Given the description of an element on the screen output the (x, y) to click on. 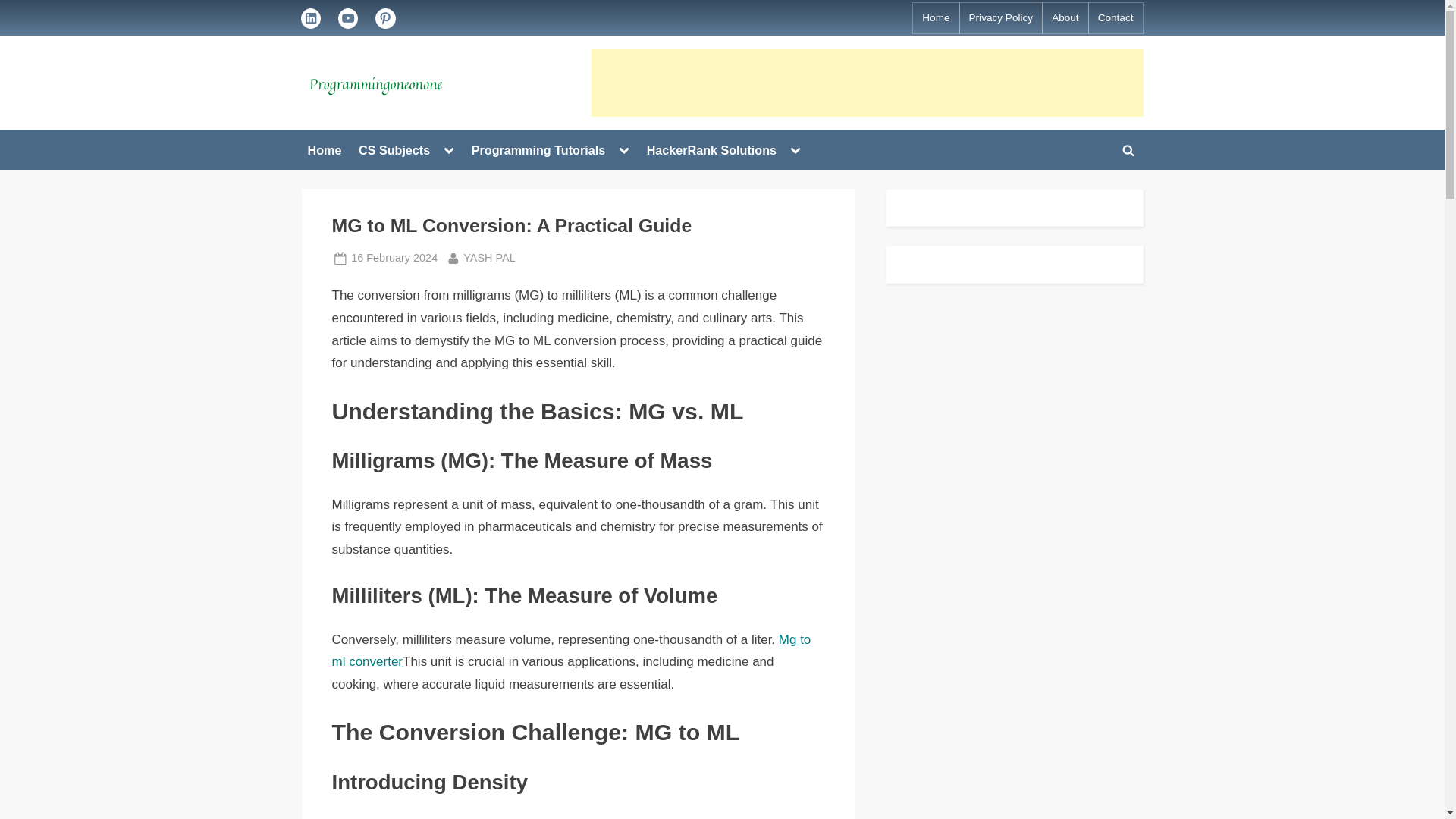
Home (935, 18)
Programming Tutorials (538, 149)
Pinterest (384, 17)
Mg to ml converter (570, 650)
Privacy Policy (1001, 18)
Toggle search form (1128, 150)
Toggle sub-menu (394, 257)
Toggle sub-menu (623, 149)
Linkedin (449, 149)
